Given the description of an element on the screen output the (x, y) to click on. 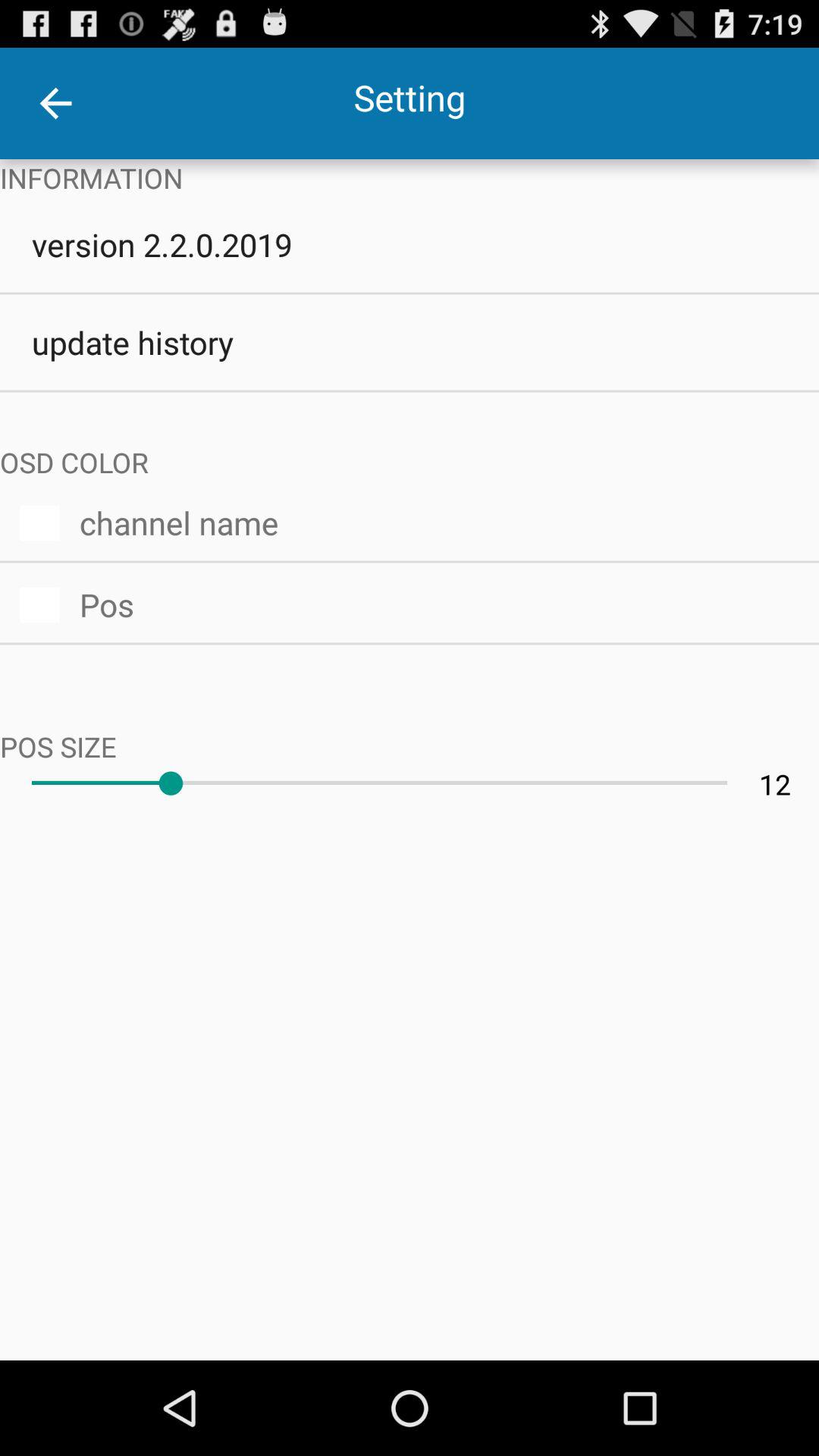
press the icon below version 2 2 icon (409, 342)
